Given the description of an element on the screen output the (x, y) to click on. 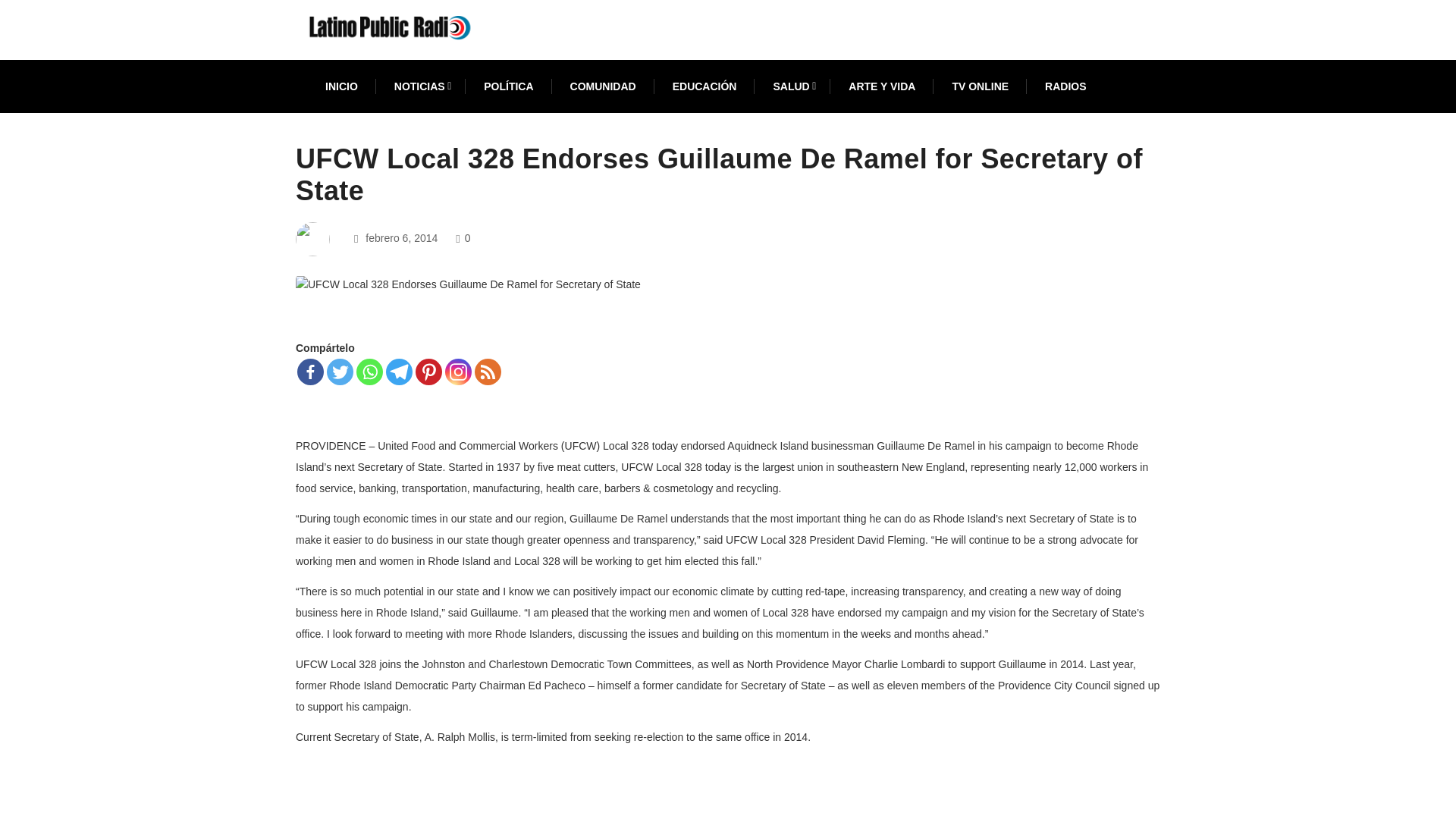
COMUNIDAD (603, 86)
TV ONLINE (980, 86)
Facebook (310, 371)
NOTICIAS (420, 86)
RSS Feed (487, 371)
Whatsapp (369, 371)
Twitter (339, 371)
Instagram (458, 371)
ARTE Y VIDA (881, 86)
Telegram (398, 371)
Pinterest (428, 371)
